Given the description of an element on the screen output the (x, y) to click on. 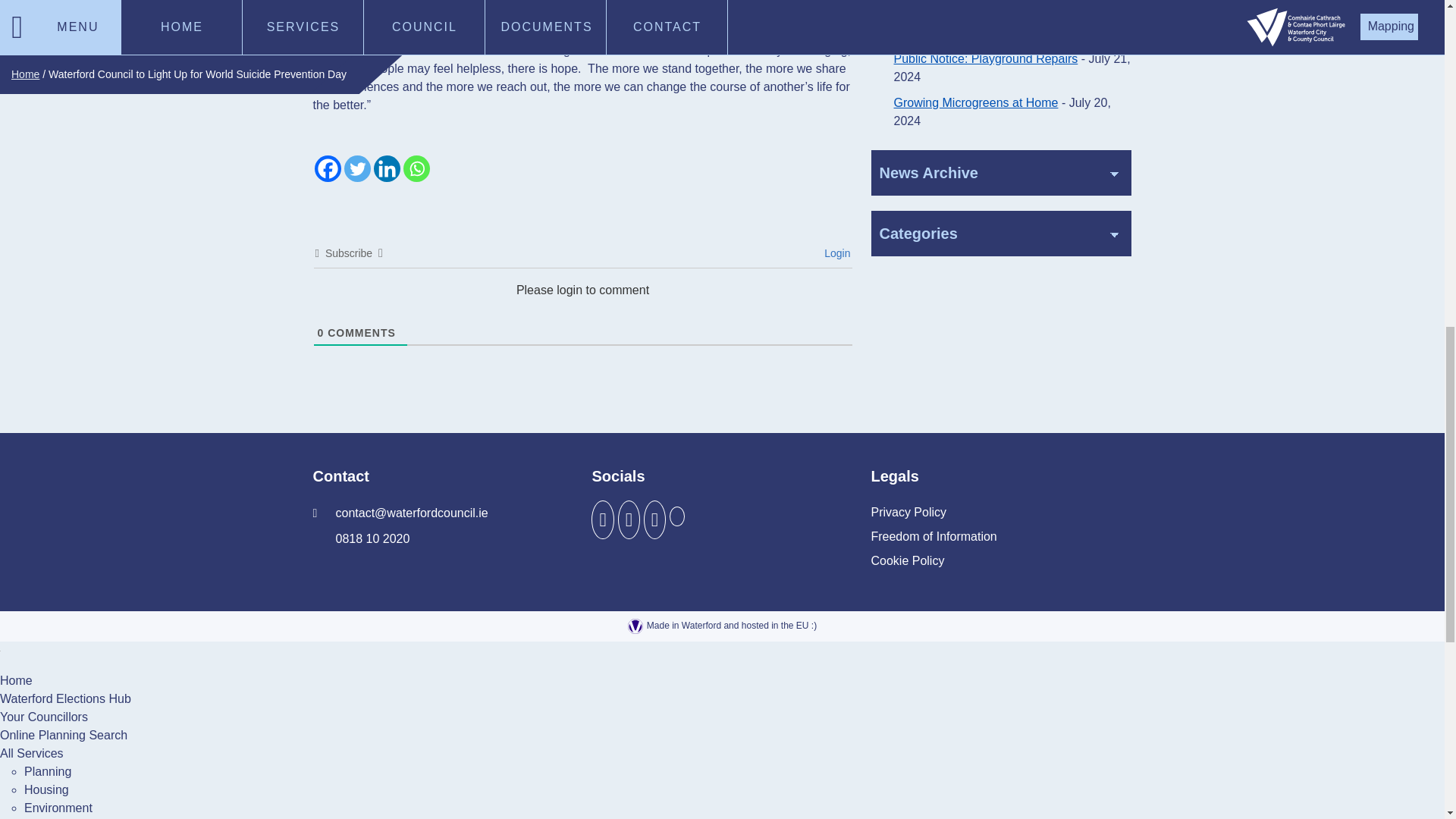
Linkedin (385, 168)
Freedom of Information (932, 536)
Growing Microgreens at Home (975, 102)
Woman pays the consequences of illegal dumping (1003, 23)
0818 10 2020 (361, 539)
Privacy Policy (908, 512)
Cookie Policy (906, 560)
Twitter (357, 168)
Login (834, 253)
Public Notice: Playground Repairs (985, 58)
Facebook (327, 168)
Whatsapp (416, 168)
